Given the description of an element on the screen output the (x, y) to click on. 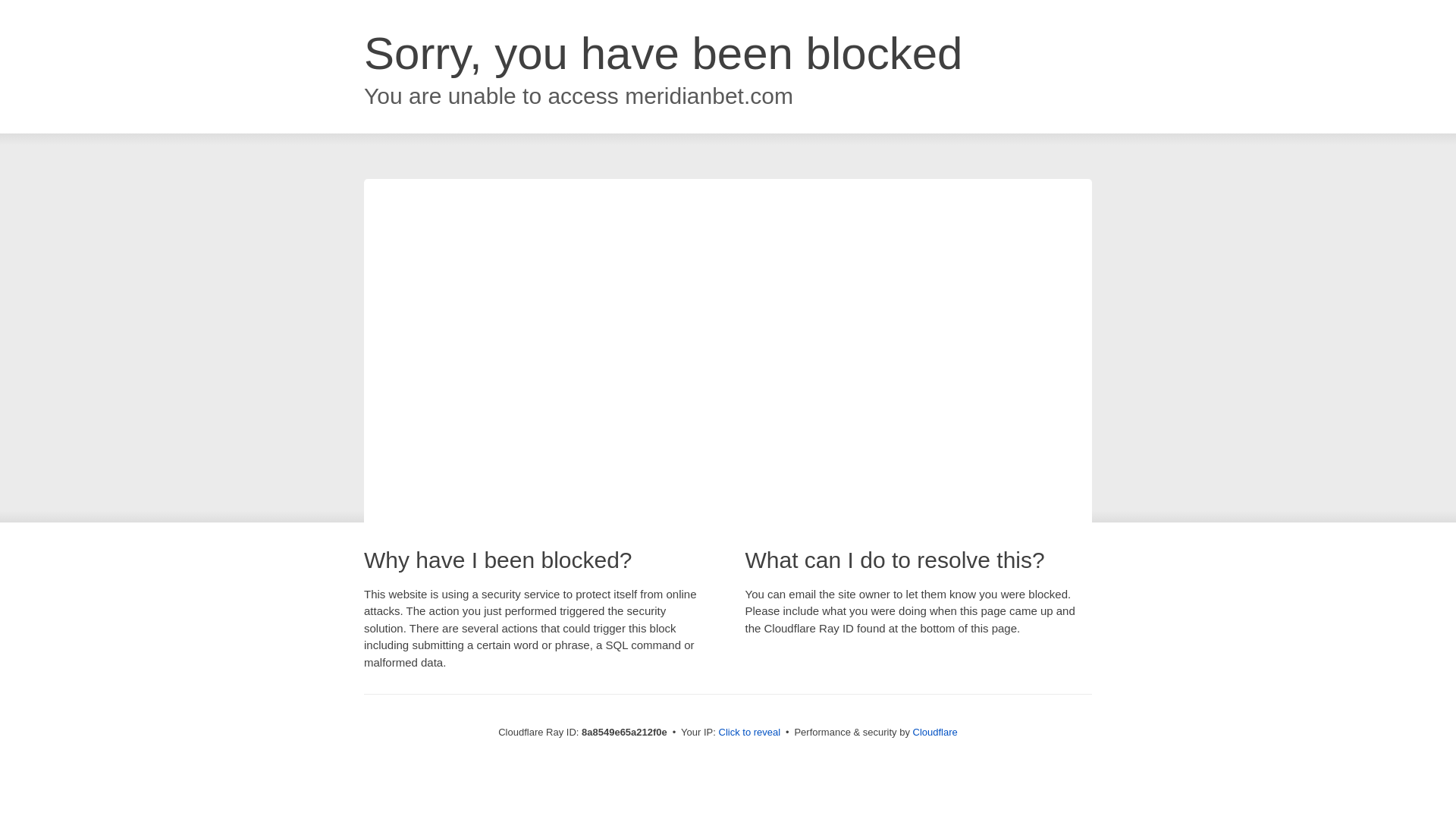
Click to reveal (749, 732)
Cloudflare (935, 731)
